Given the description of an element on the screen output the (x, y) to click on. 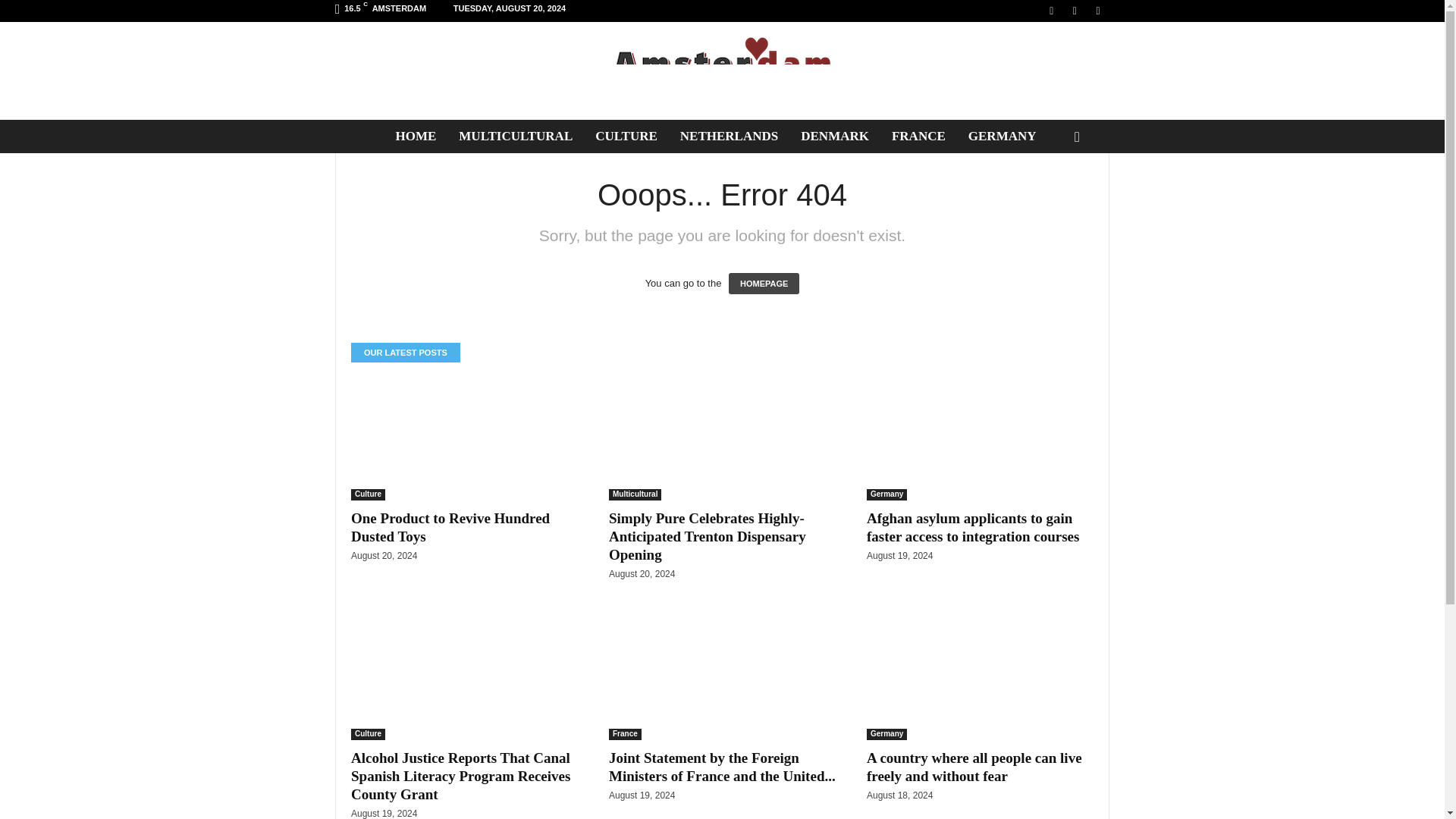
HOME (415, 136)
HOMEPAGE (764, 283)
FRANCE (918, 136)
Culture (367, 494)
Multicultural (634, 494)
Amsterdam Aesthetics (721, 70)
